Given the description of an element on the screen output the (x, y) to click on. 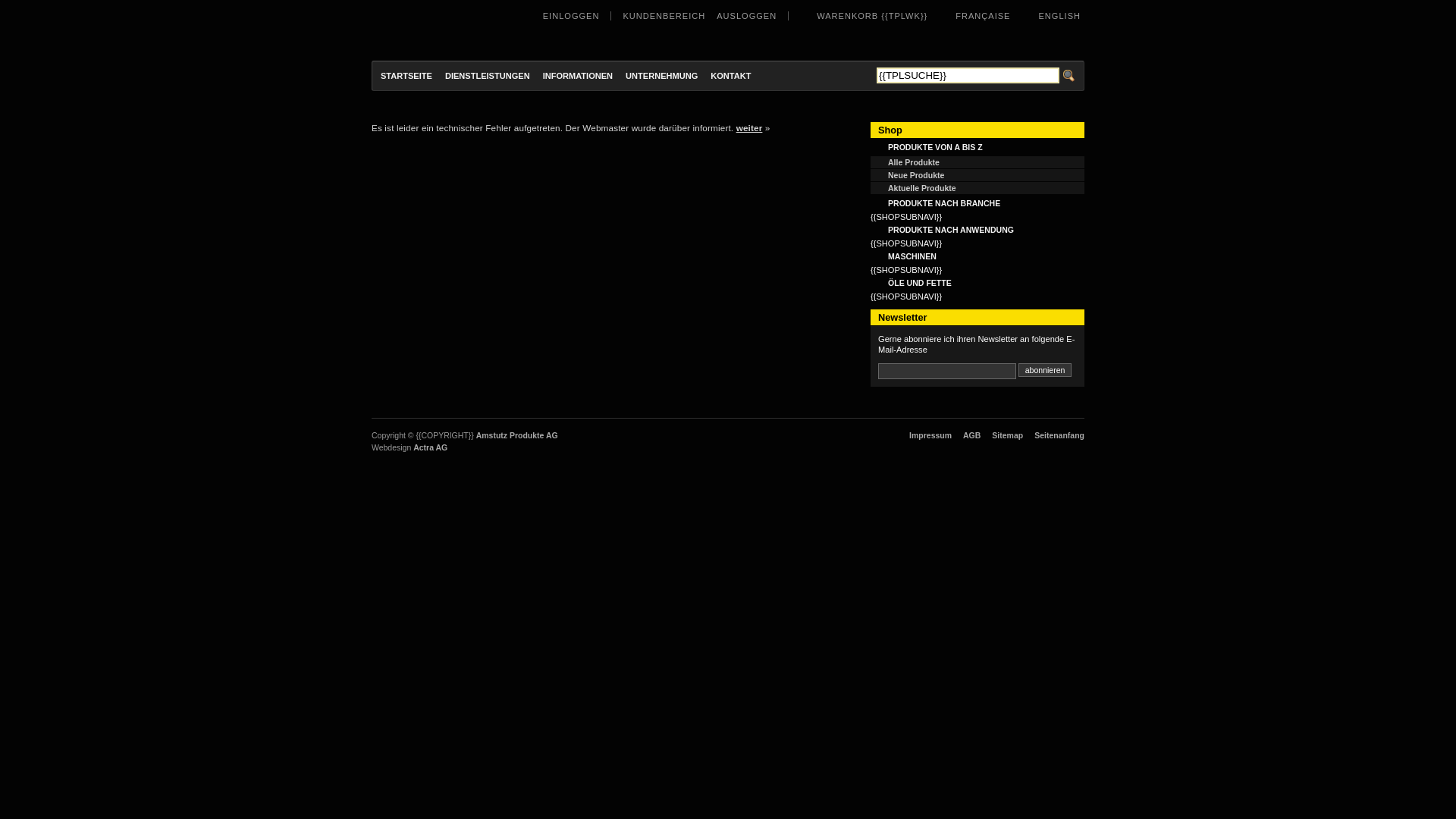
DIENSTLEISTUNGEN Element type: text (487, 75)
weiter Element type: text (749, 127)
Alle Produkte Element type: text (977, 162)
PRODUKTE NACH BRANCHE Element type: text (977, 202)
Suche starten Element type: hover (1069, 75)
UNTERNEHMUNG Element type: text (661, 75)
Seitenanfang Element type: text (1059, 435)
Impressum Element type: text (930, 435)
Sitemap Element type: text (1006, 435)
MASCHINEN Element type: text (977, 255)
ENGLISH Element type: text (1059, 15)
Neue Produkte Element type: text (977, 175)
Aktuelle Produkte Element type: text (977, 188)
INFORMATIONEN Element type: text (577, 75)
AGB Element type: text (971, 435)
Amstutz Produkte AG Element type: text (517, 435)
Actra AG Element type: text (430, 447)
EINLOGGEN Element type: text (570, 15)
Amstutz Produkte AG Element type: text (459, 29)
PRODUKTE VON A BIS Z Element type: text (977, 146)
STARTSEITE Element type: text (406, 75)
abonnieren Element type: text (1044, 369)
PRODUKTE NACH ANWENDUNG Element type: text (977, 229)
AUSLOGGEN Element type: text (746, 15)
KUNDENBEREICH Element type: text (663, 15)
KONTAKT Element type: text (730, 75)
